Given the description of an element on the screen output the (x, y) to click on. 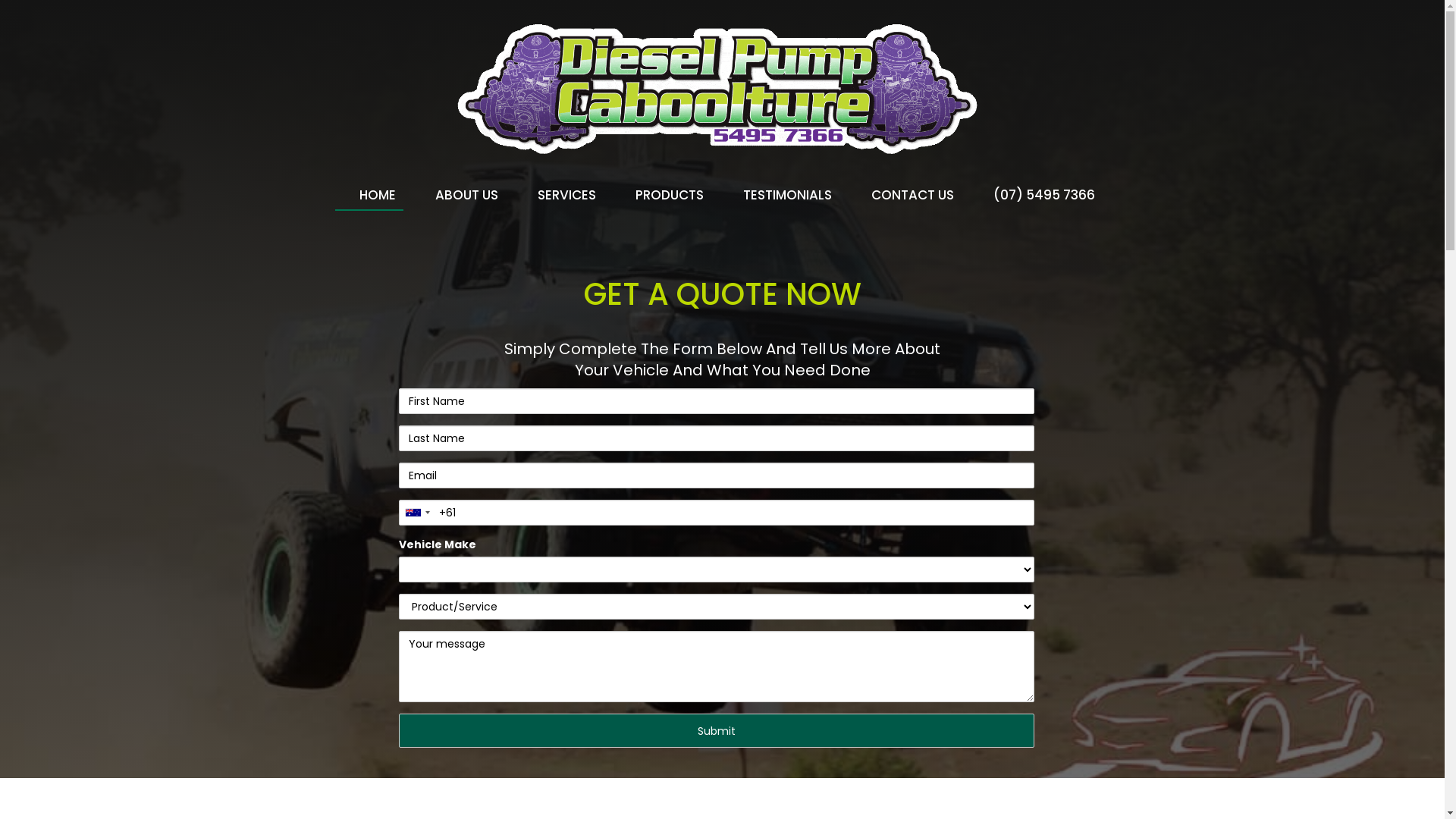
SERVICES Element type: text (557, 195)
TESTIMONIALS Element type: text (778, 195)
CONTACT US Element type: text (903, 195)
Australia: +61 Element type: hover (416, 512)
HOME Element type: text (369, 195)
(07) 5495 7366 Element type: text (1035, 195)
PRODUCTS Element type: text (661, 195)
ezgif.com-optimize Element type: hover (722, 90)
ABOUT US Element type: text (458, 195)
Submit Element type: text (716, 730)
